Given the description of an element on the screen output the (x, y) to click on. 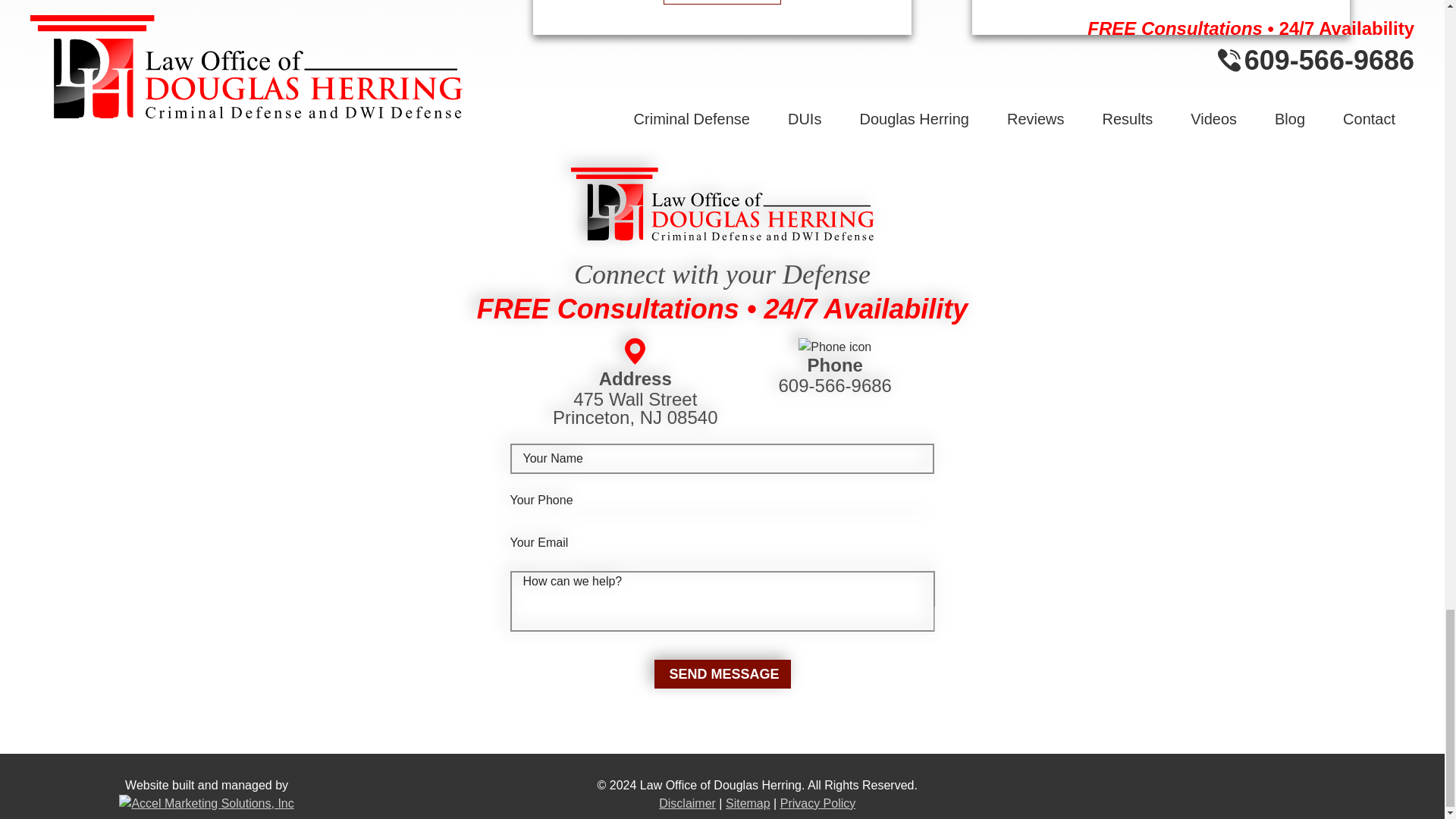
Send Message (721, 674)
